Given the description of an element on the screen output the (x, y) to click on. 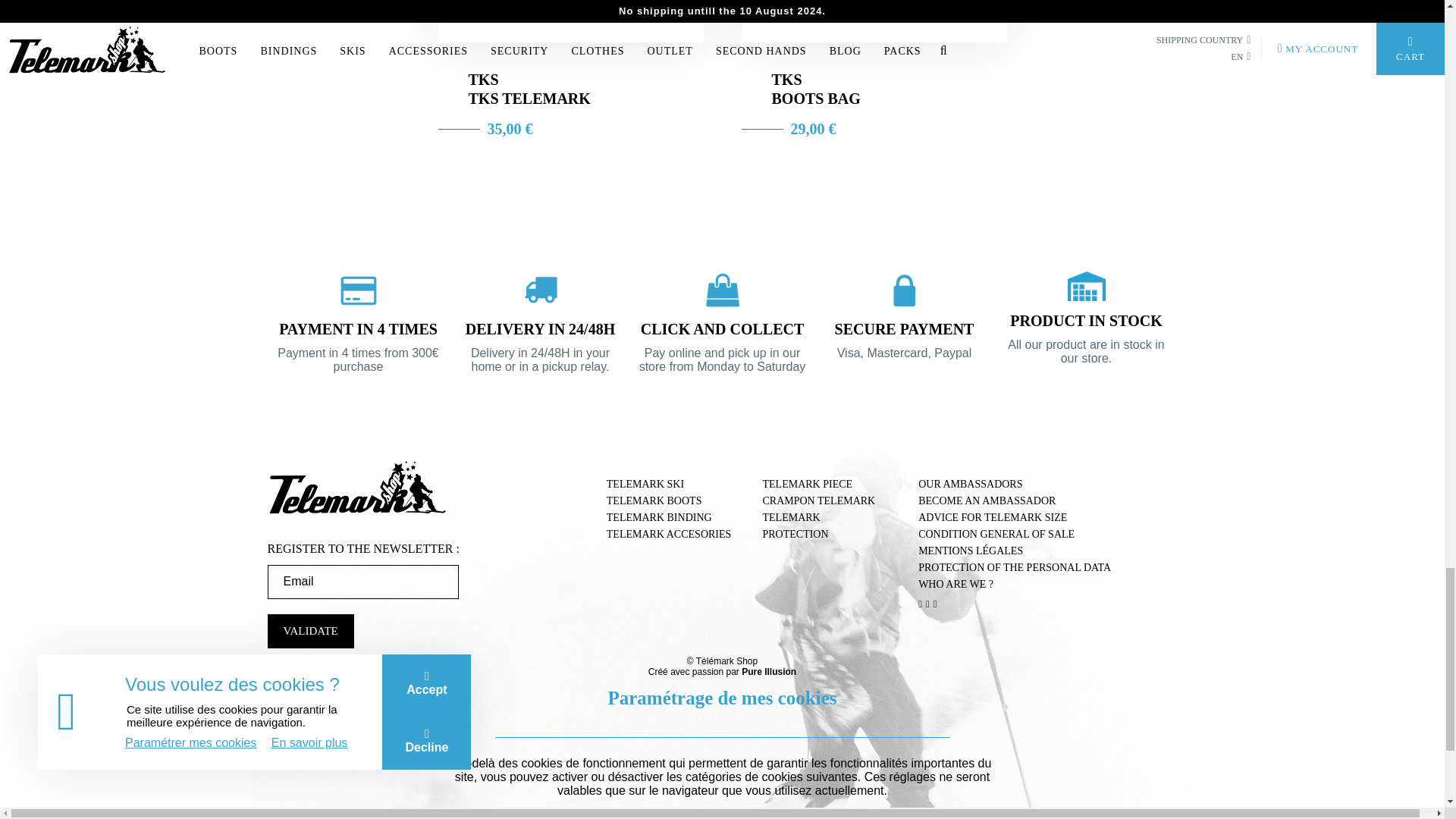
Validate (309, 631)
